Given the description of an element on the screen output the (x, y) to click on. 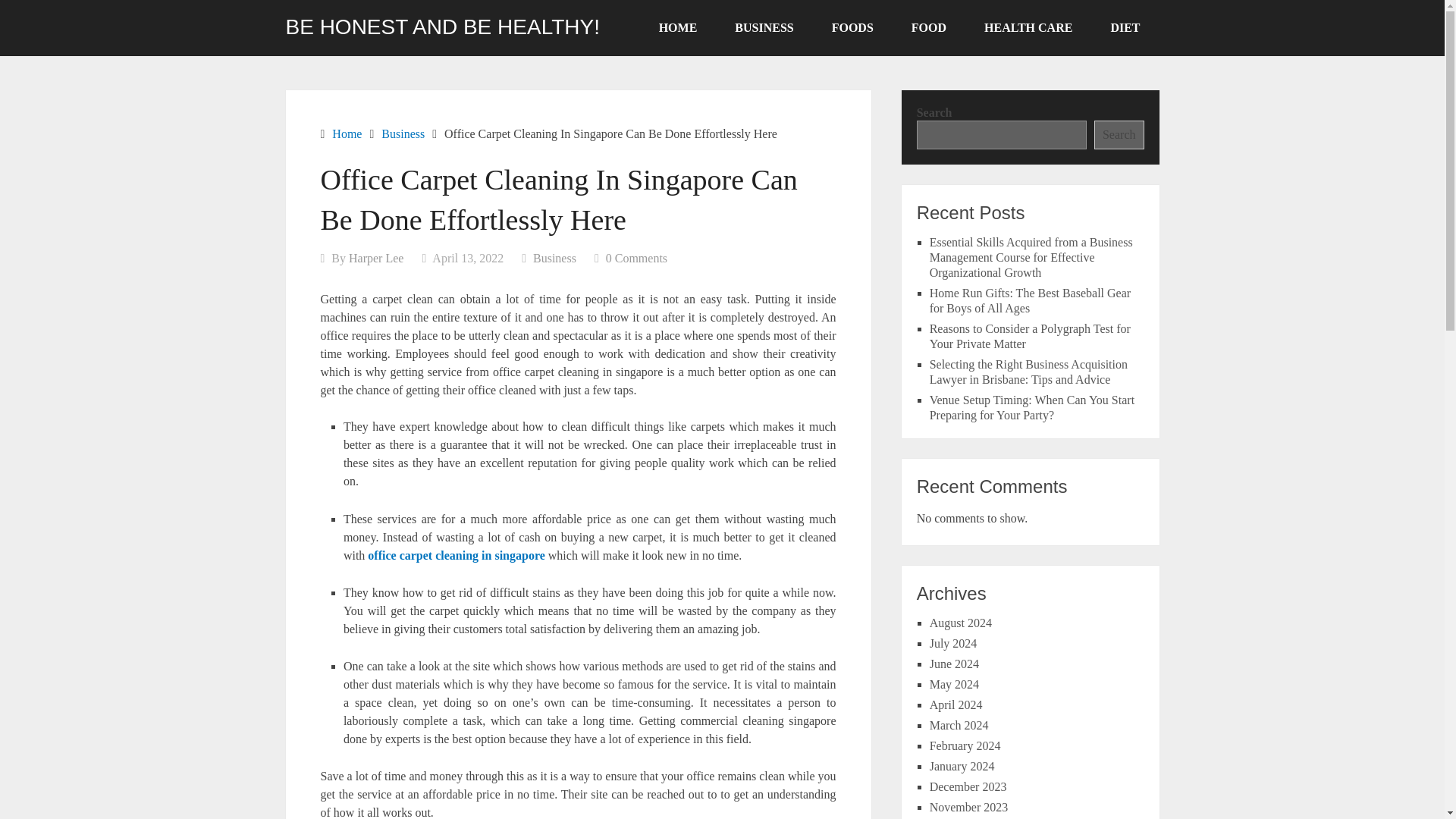
June 2024 (954, 663)
March 2024 (959, 725)
Home (346, 133)
BE HONEST AND BE HEALTHY! (441, 26)
Search (1119, 134)
BUSINESS (764, 28)
0 Comments (635, 257)
Business (403, 133)
HOME (678, 28)
